Given the description of an element on the screen output the (x, y) to click on. 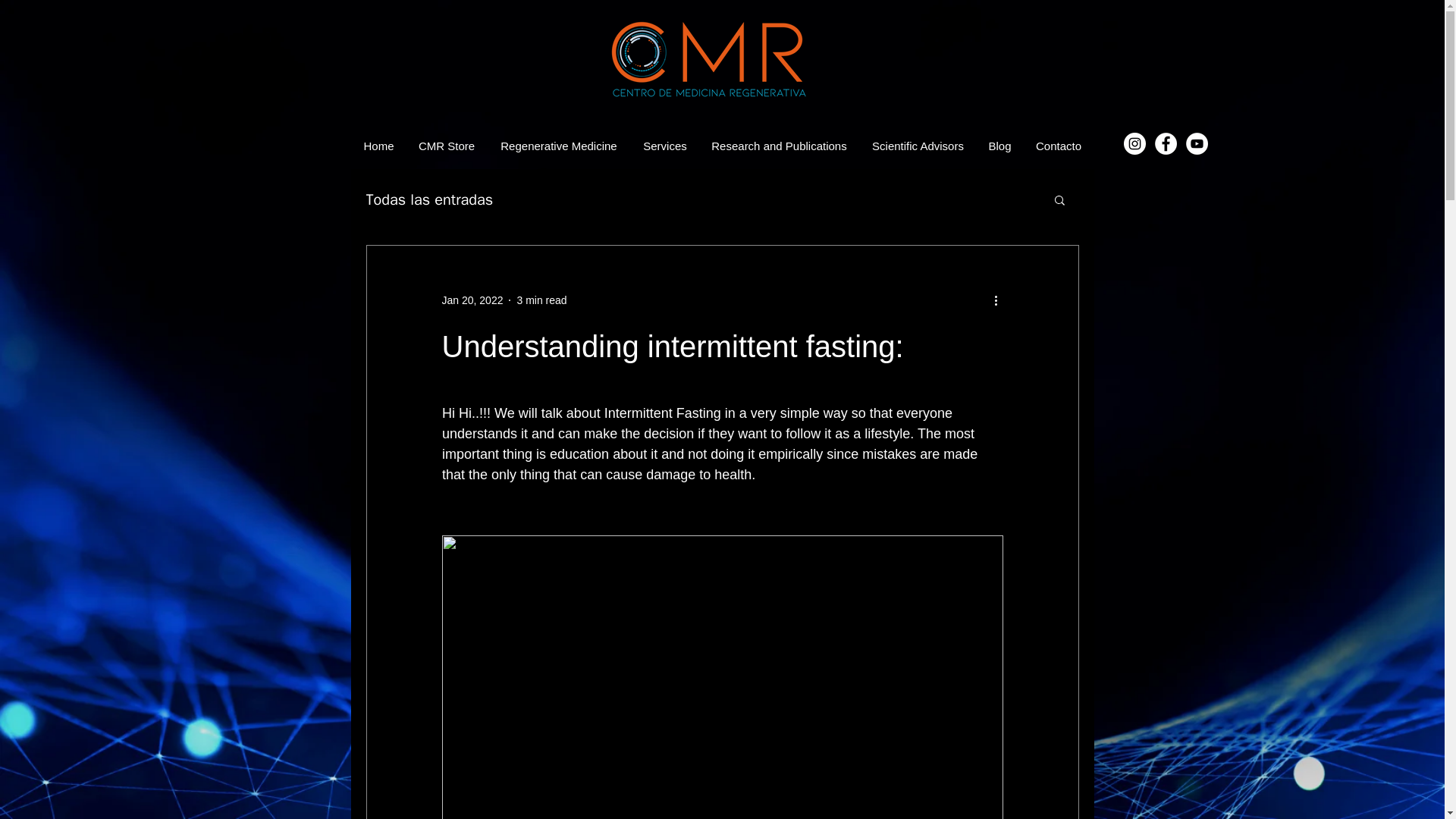
3 min read (541, 300)
Blog (999, 145)
Scientific Advisors (918, 145)
CMR Store (446, 145)
Regenerative Medicine (558, 145)
Services (664, 145)
Home (378, 145)
Contacto (1058, 145)
Research and Publications (779, 145)
Todas las entradas (429, 199)
